Given the description of an element on the screen output the (x, y) to click on. 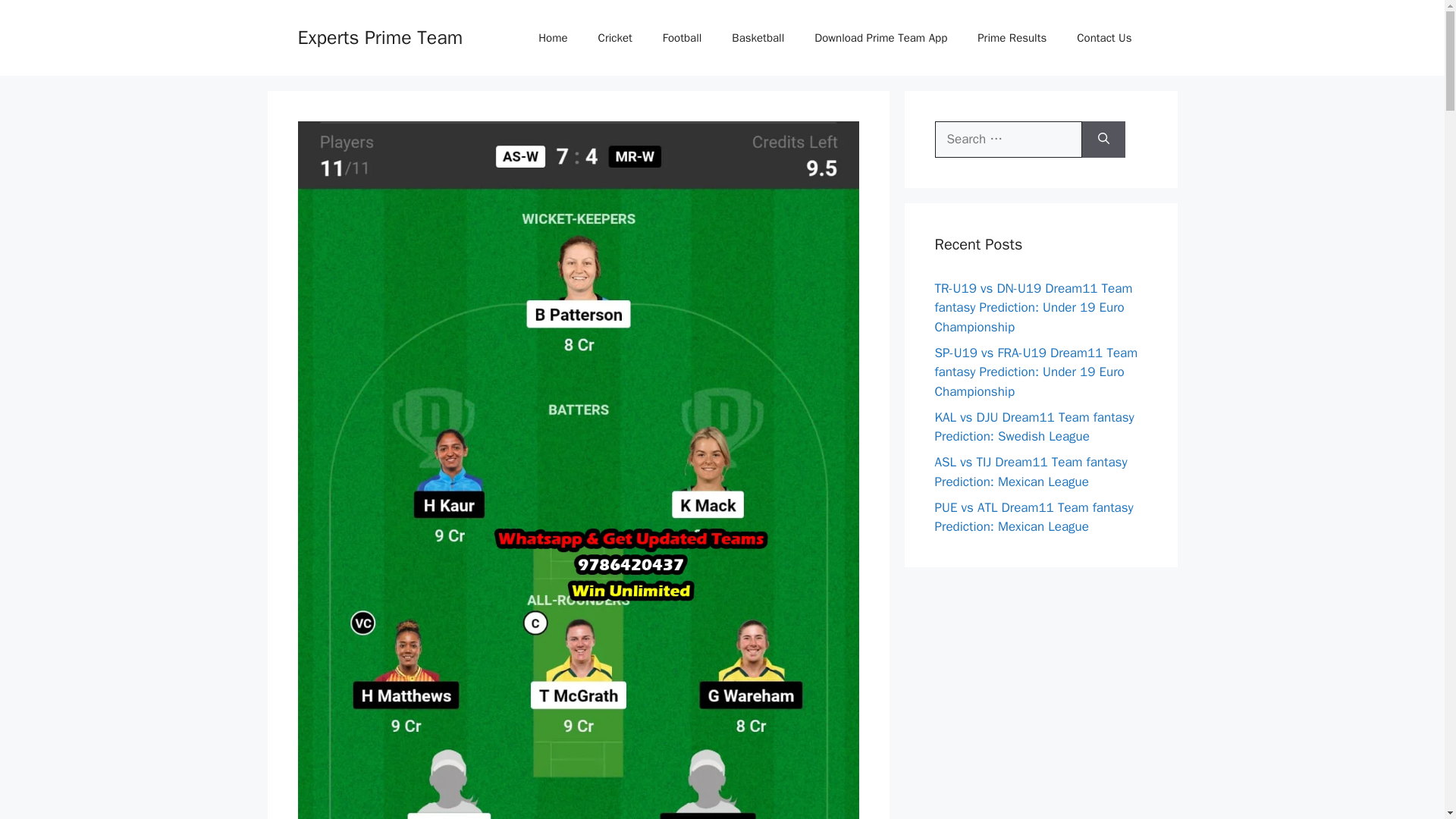
Download Prime Team App (880, 37)
Contact Us (1104, 37)
Experts Prime Team (380, 37)
Cricket (615, 37)
Prime Results (1011, 37)
Basketball (757, 37)
Football (682, 37)
Home (552, 37)
